Given the description of an element on the screen output the (x, y) to click on. 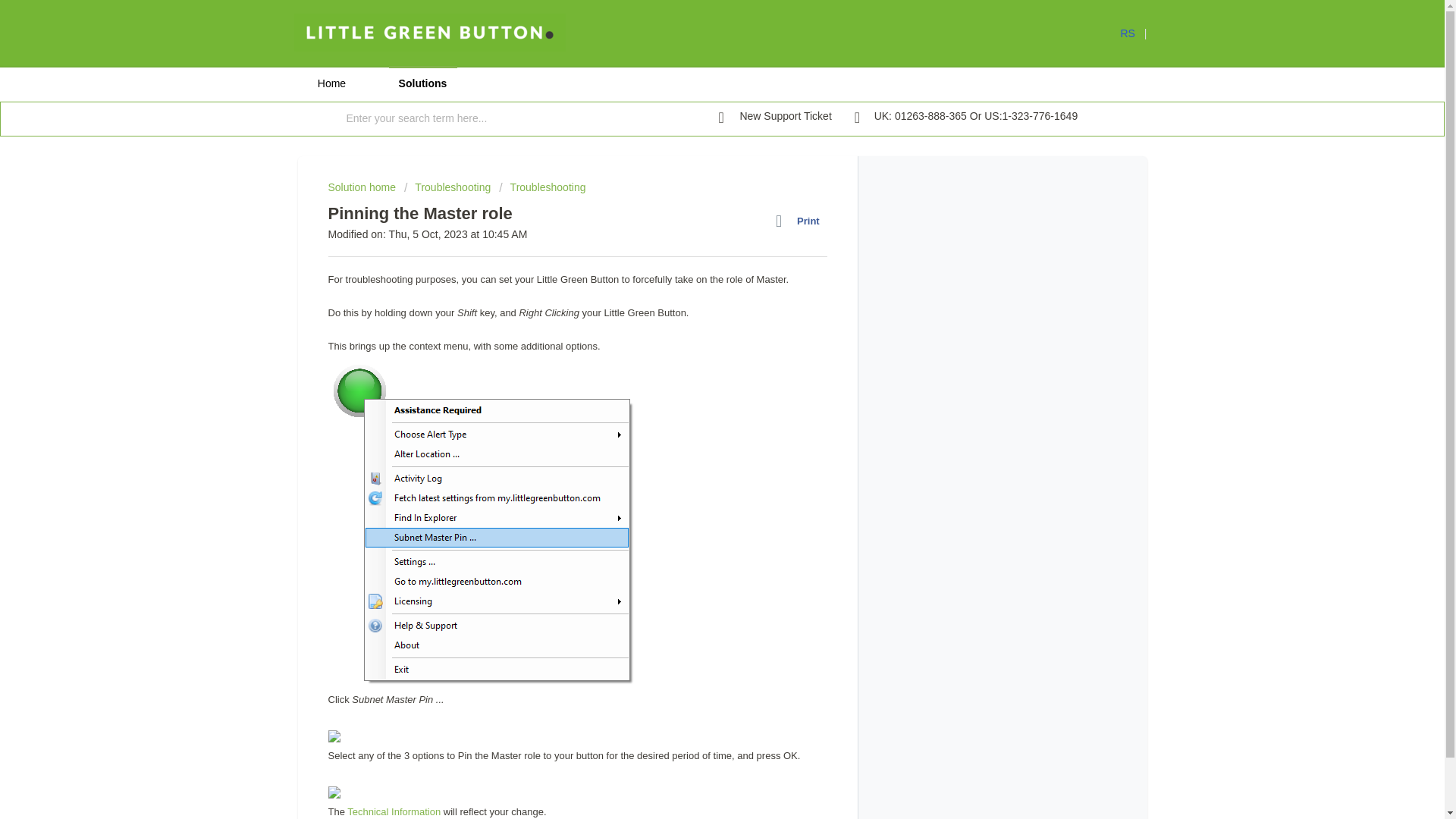
Solutions (422, 83)
New support ticket (775, 116)
Troubleshooting (447, 186)
UK: 01263-888-365 Or US:1-323-776-1649 (965, 117)
Troubleshooting (542, 186)
RS (1133, 33)
Remote Support Session (1133, 33)
Home (331, 83)
Technical Information (394, 811)
Print this Article (801, 220)
Print (801, 220)
Solution home (362, 186)
New Support Ticket (775, 116)
